Given the description of an element on the screen output the (x, y) to click on. 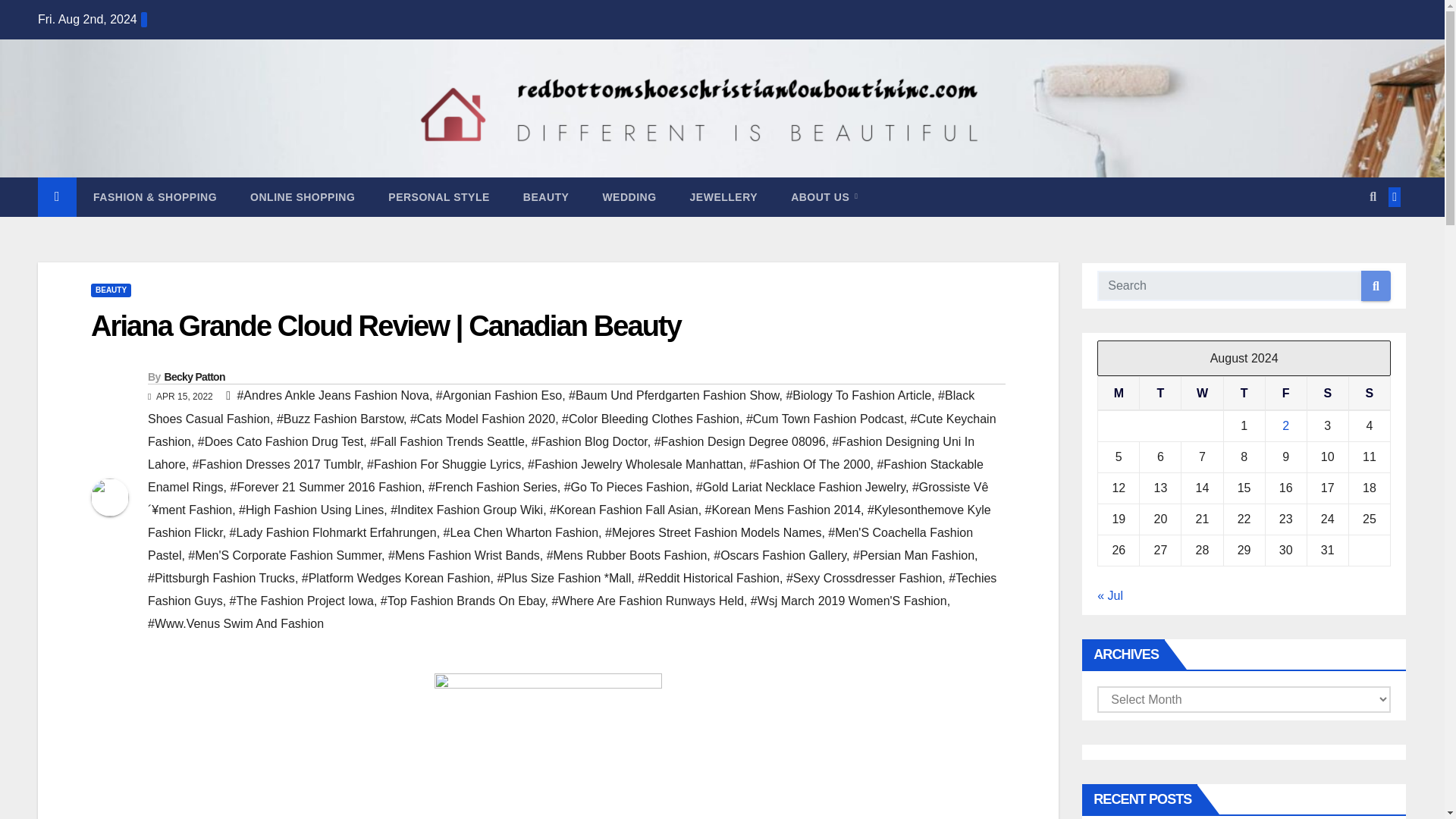
Wedding (628, 197)
Personal Style (438, 197)
WEDDING (628, 197)
ABOUT US (824, 197)
BEAUTY (546, 197)
JEWELLERY (723, 197)
BEAUTY (110, 290)
Becky Patton (193, 377)
About Us (824, 197)
Beauty (546, 197)
PERSONAL STYLE (438, 197)
ONLINE SHOPPING (301, 197)
Online Shopping (301, 197)
Jewellery (723, 197)
